Given the description of an element on the screen output the (x, y) to click on. 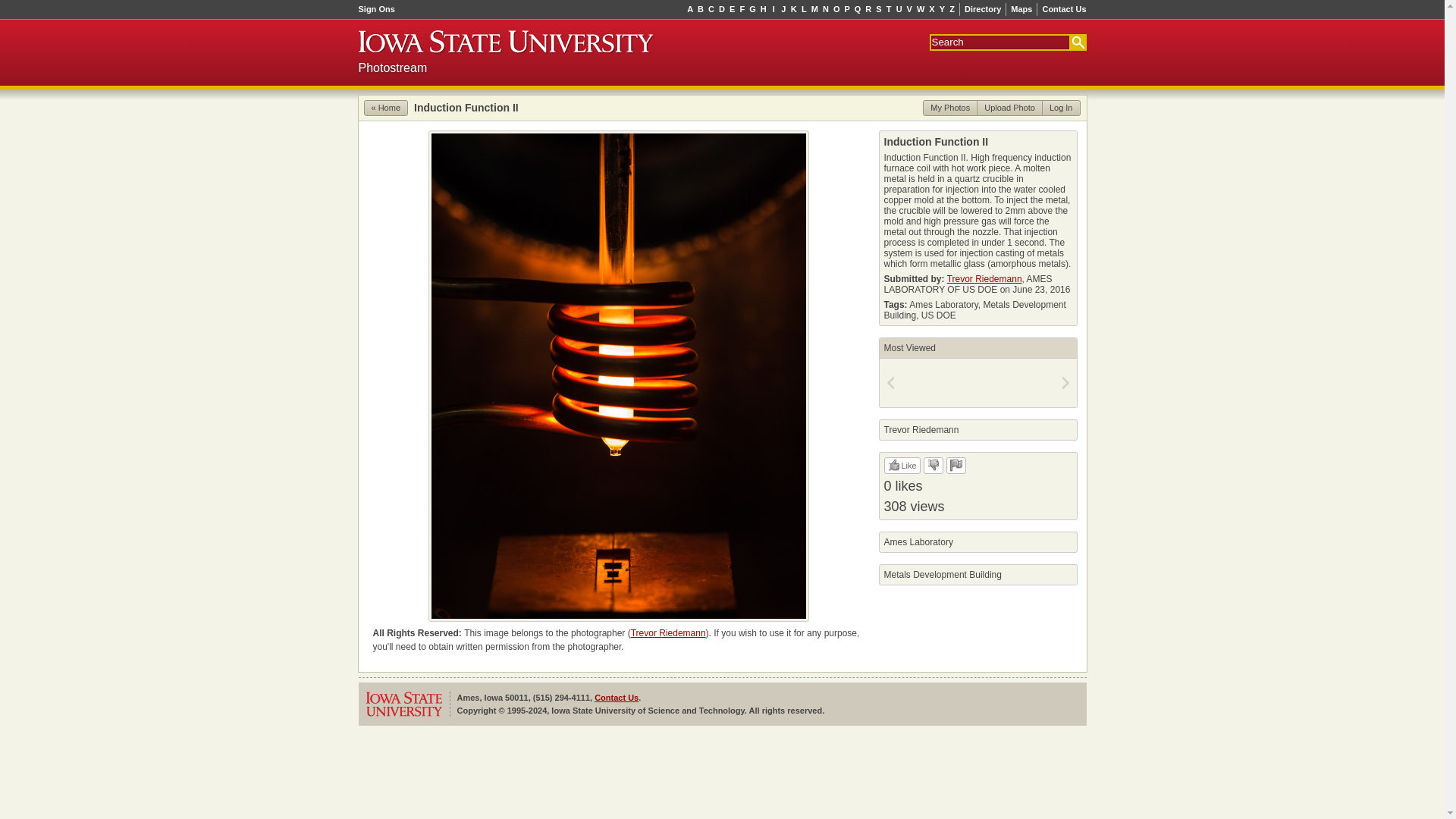
Photostream (392, 66)
Directory (982, 9)
Dislike (933, 464)
Flag (956, 464)
Maps (1021, 9)
Contact Us (1061, 9)
Trevor Riedemann (668, 633)
Sign Ons (378, 9)
Search (1077, 41)
Log In (1061, 107)
